Given the description of an element on the screen output the (x, y) to click on. 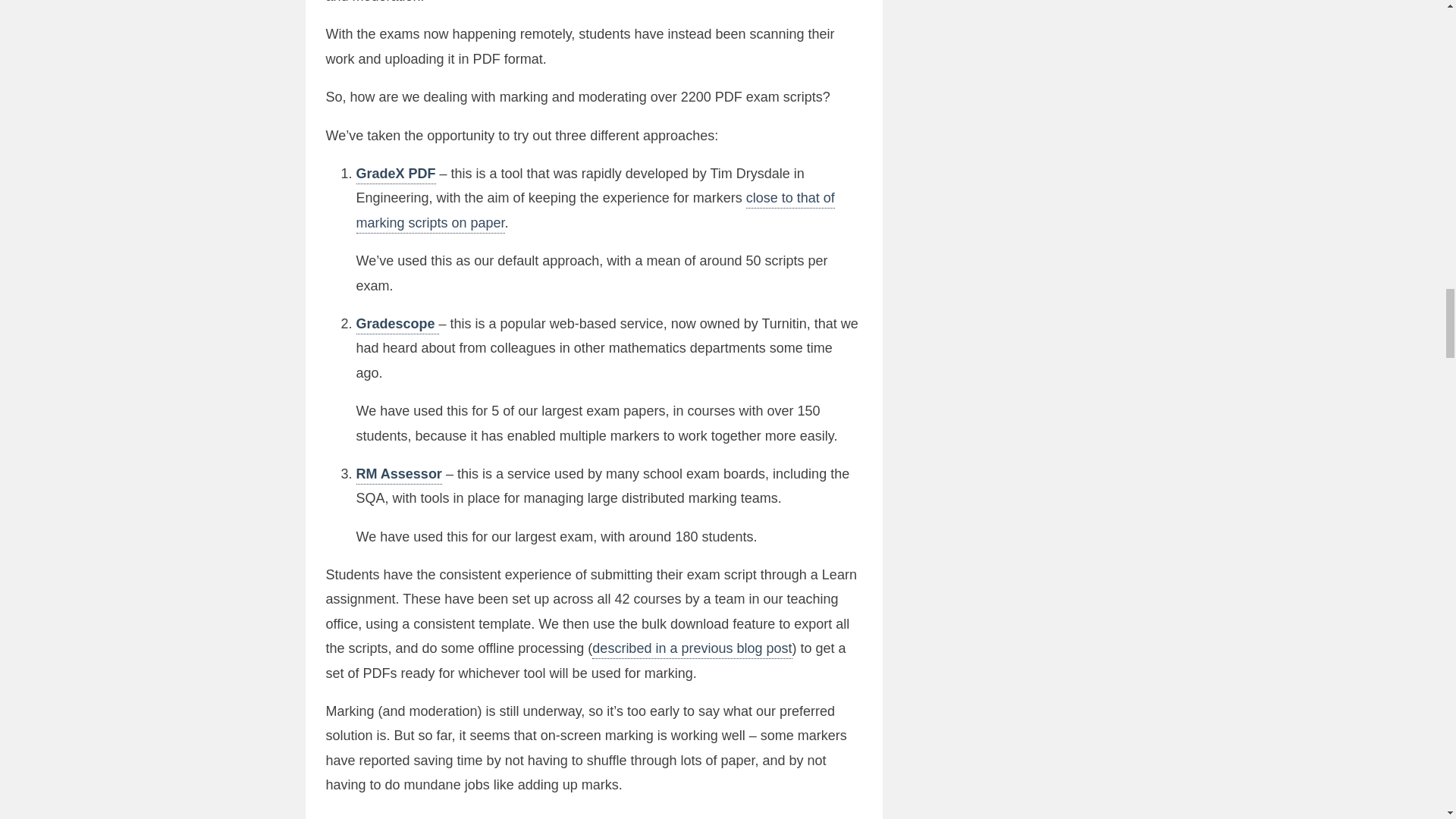
Gradescope (397, 325)
GradeX PDF (395, 175)
close to that of marking scripts on paper (595, 211)
described in a previous blog post (692, 649)
RM Assessor (399, 475)
